Given the description of an element on the screen output the (x, y) to click on. 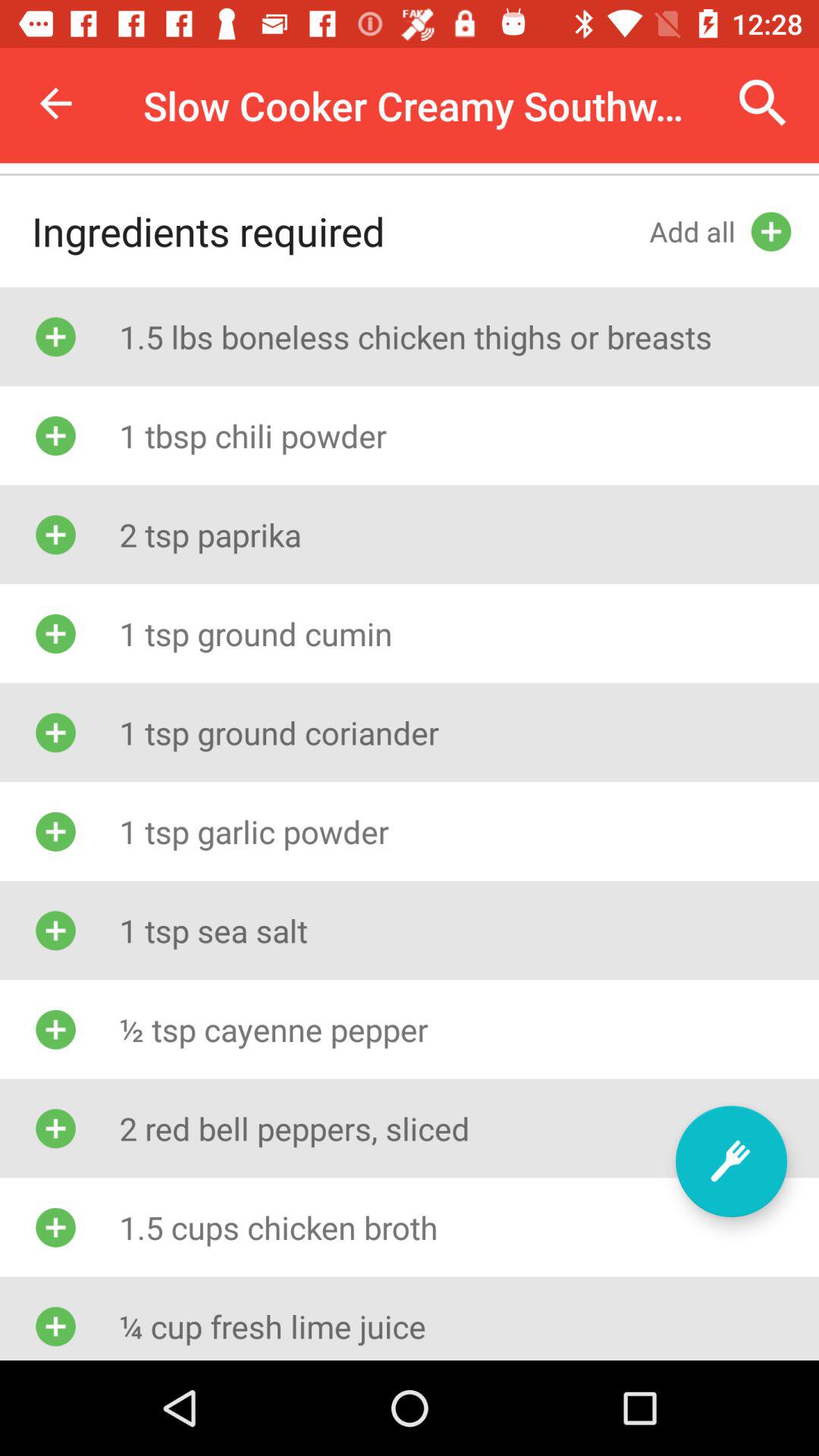
choose item to the right of slow cooker creamy icon (763, 103)
